Given the description of an element on the screen output the (x, y) to click on. 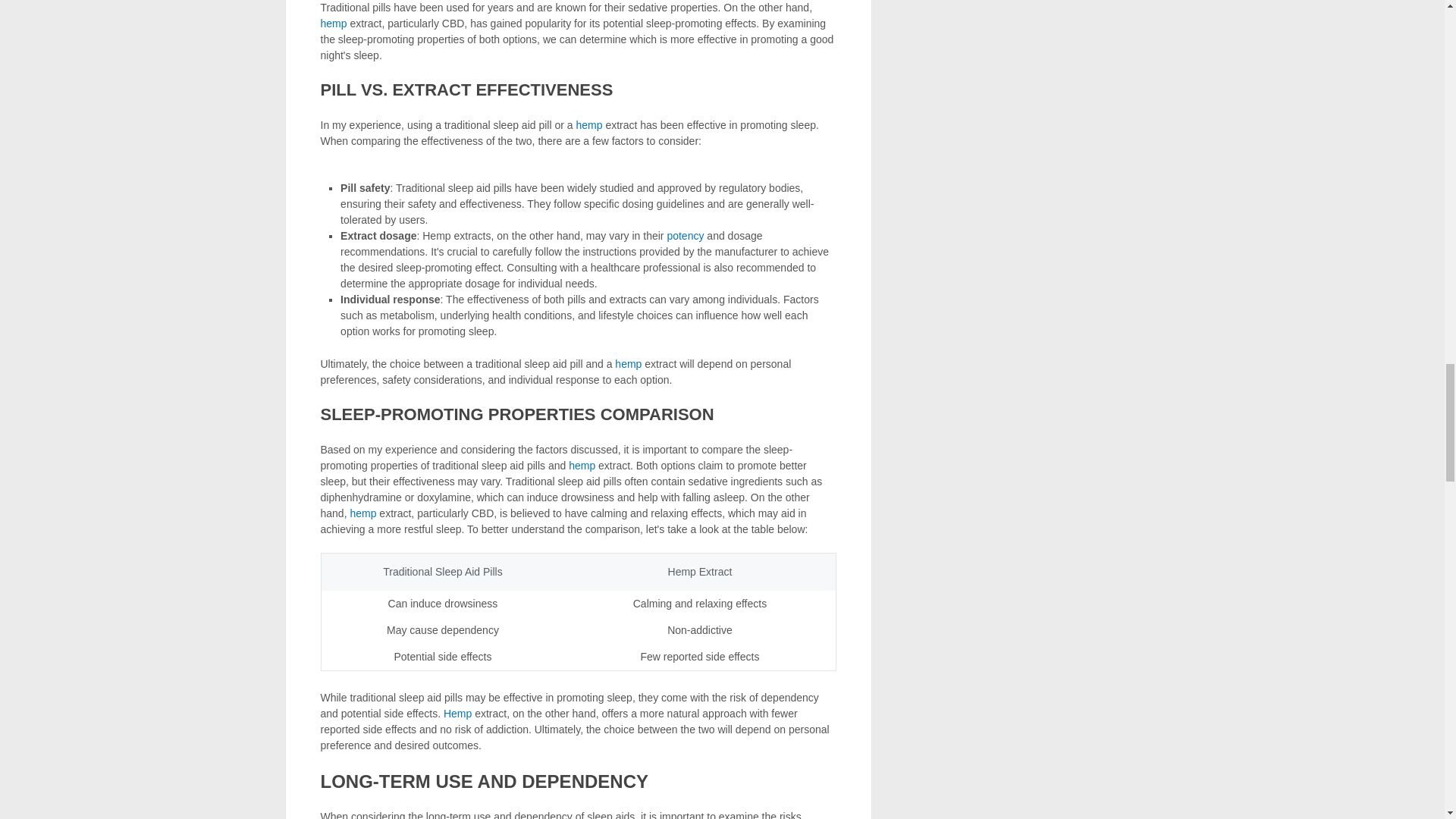
hemp (628, 363)
hemp (588, 124)
Hemp (457, 712)
potency (684, 235)
hemp (333, 23)
hemp (628, 363)
hemp (582, 465)
hemp (333, 23)
potency (684, 235)
hemp (582, 465)
